Given the description of an element on the screen output the (x, y) to click on. 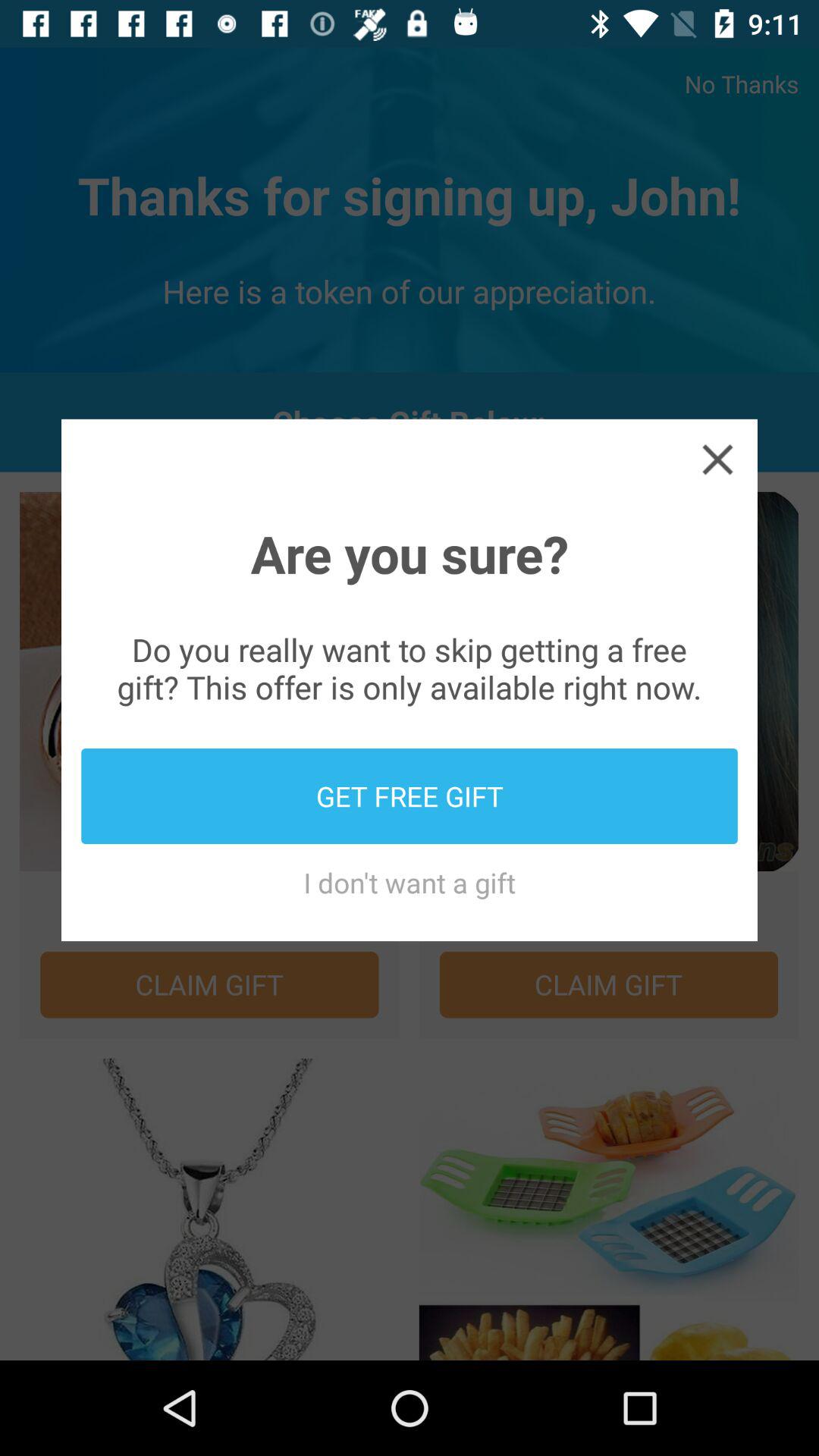
tap the icon below get free gift item (409, 882)
